Given the description of an element on the screen output the (x, y) to click on. 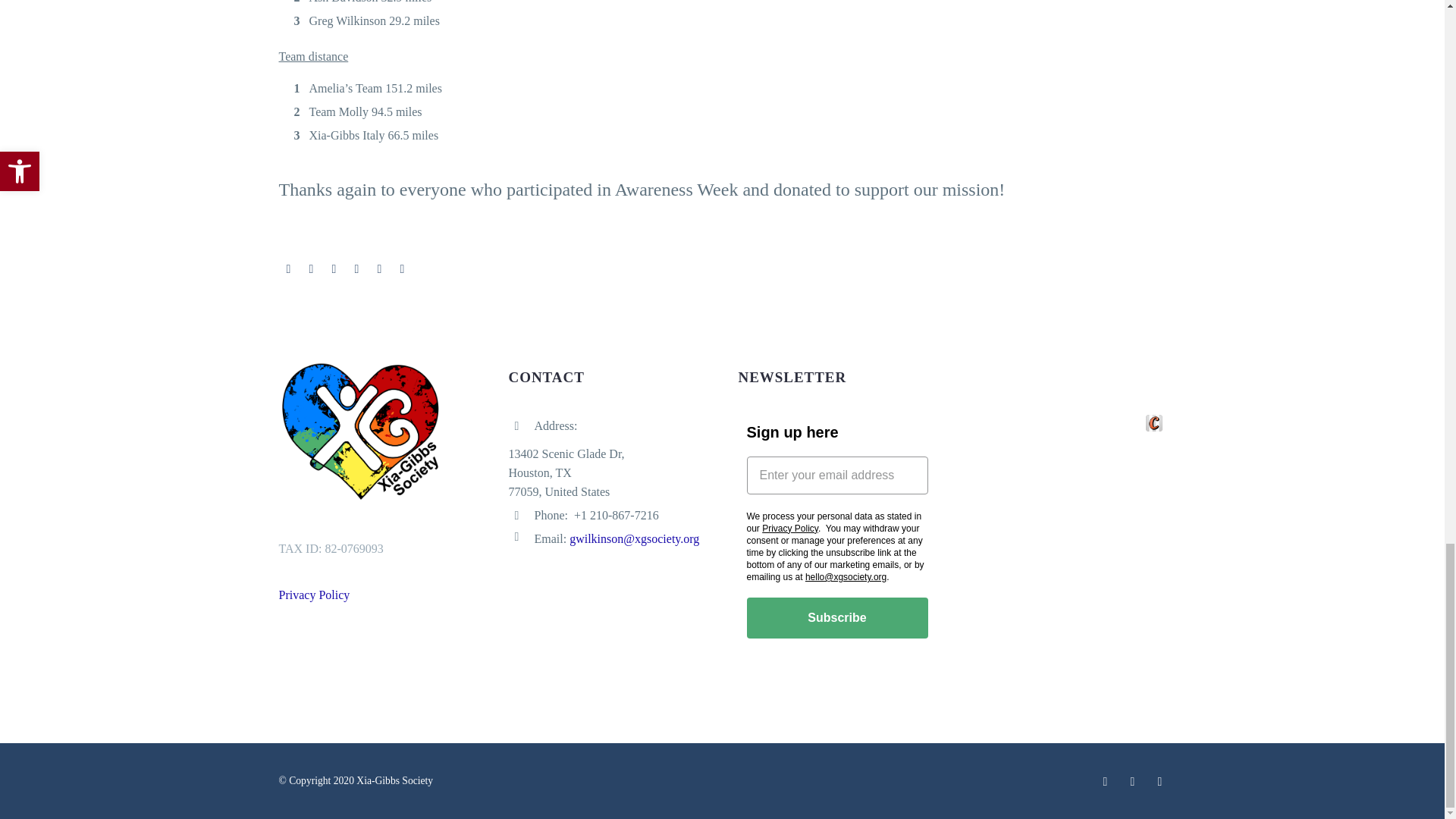
Facebook (288, 268)
Reddit (401, 268)
LinkedIn (378, 268)
Tumblr (356, 268)
Twitter (310, 268)
Pinterest (333, 268)
